Given the description of an element on the screen output the (x, y) to click on. 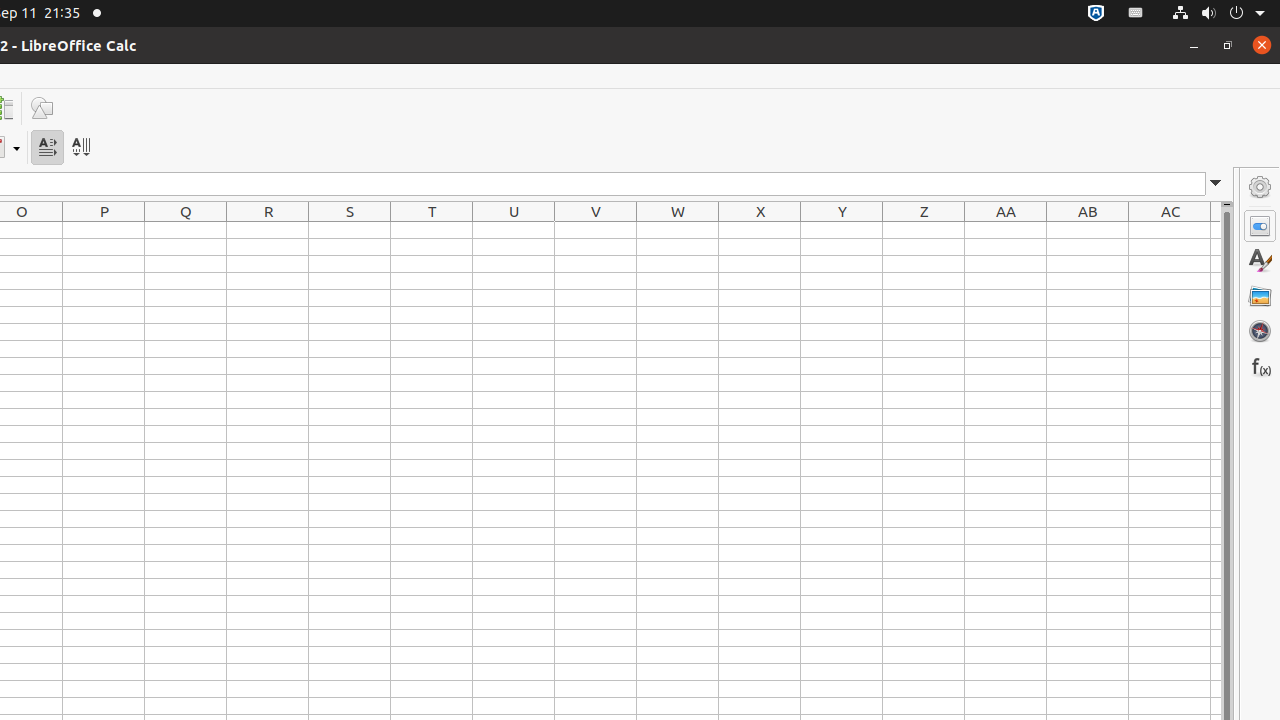
X1 Element type: table-cell (760, 230)
Draw Functions Element type: toggle-button (41, 108)
Styles Element type: radio-button (1260, 261)
Functions Element type: radio-button (1260, 366)
